Given the description of an element on the screen output the (x, y) to click on. 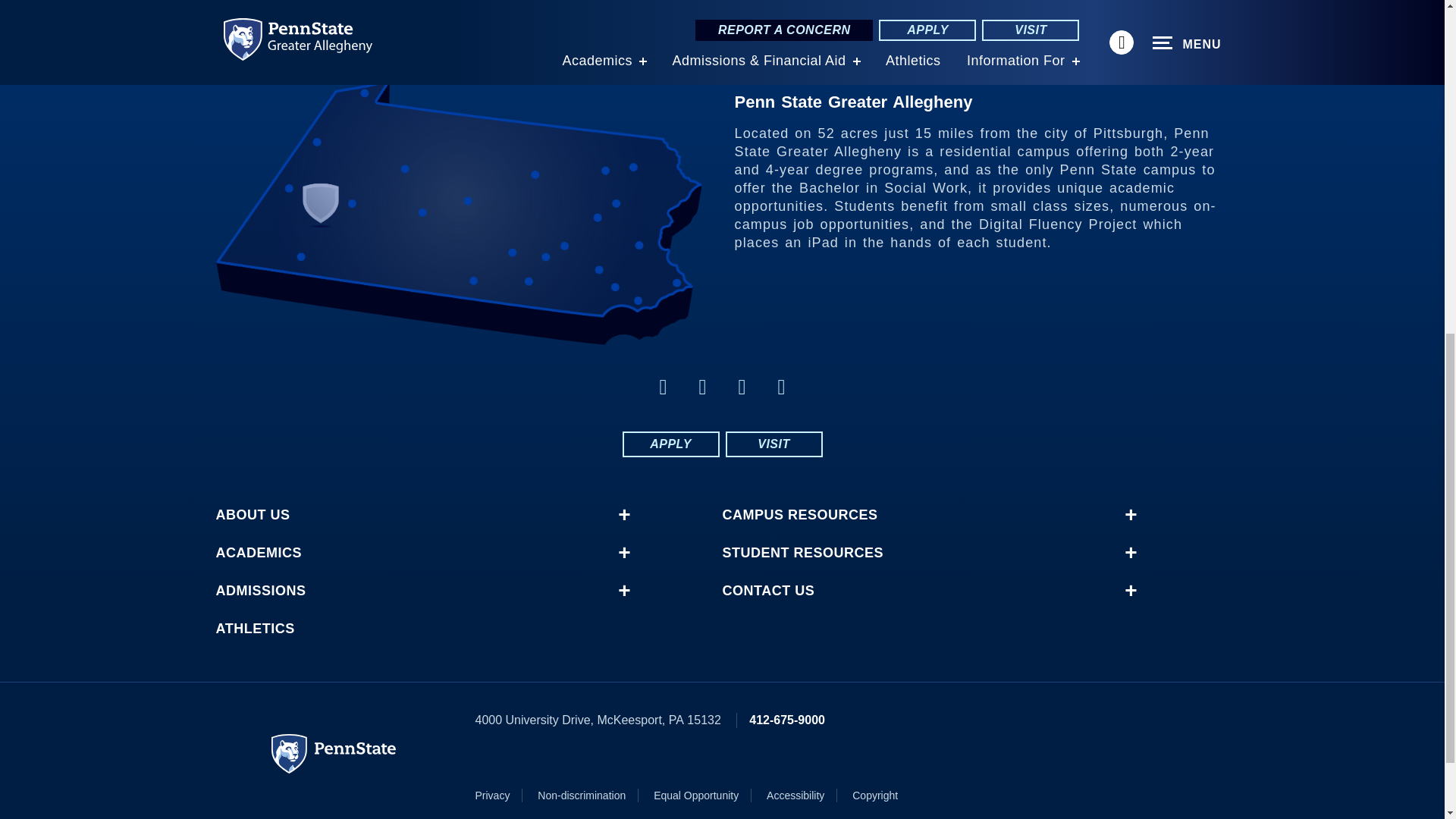
linkedin (702, 386)
instagram (781, 386)
Penn State University (333, 753)
facebook (662, 386)
youtube (741, 386)
